Given the description of an element on the screen output the (x, y) to click on. 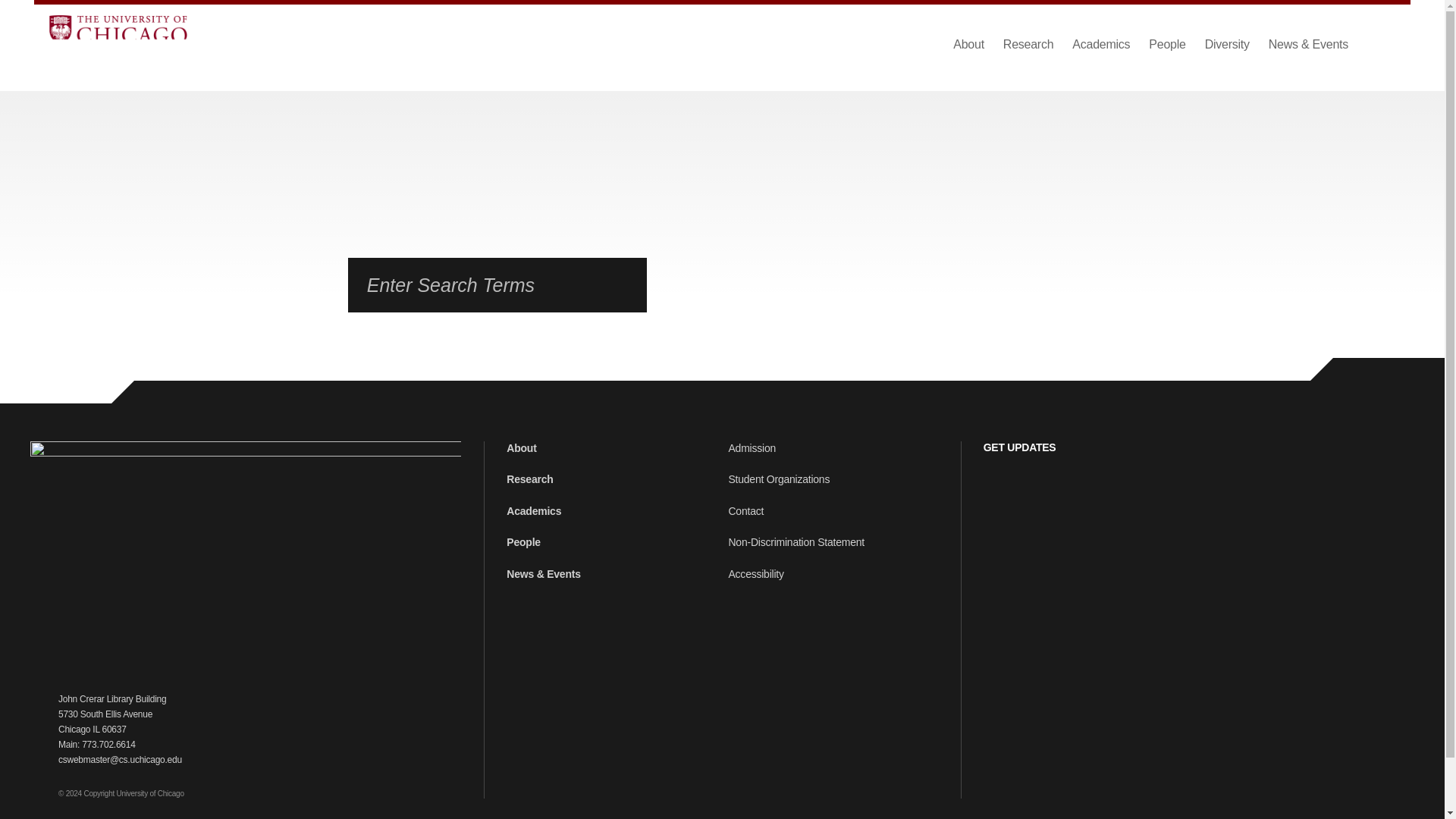
Research (1027, 44)
Academics (1100, 44)
About (968, 44)
